Given the description of an element on the screen output the (x, y) to click on. 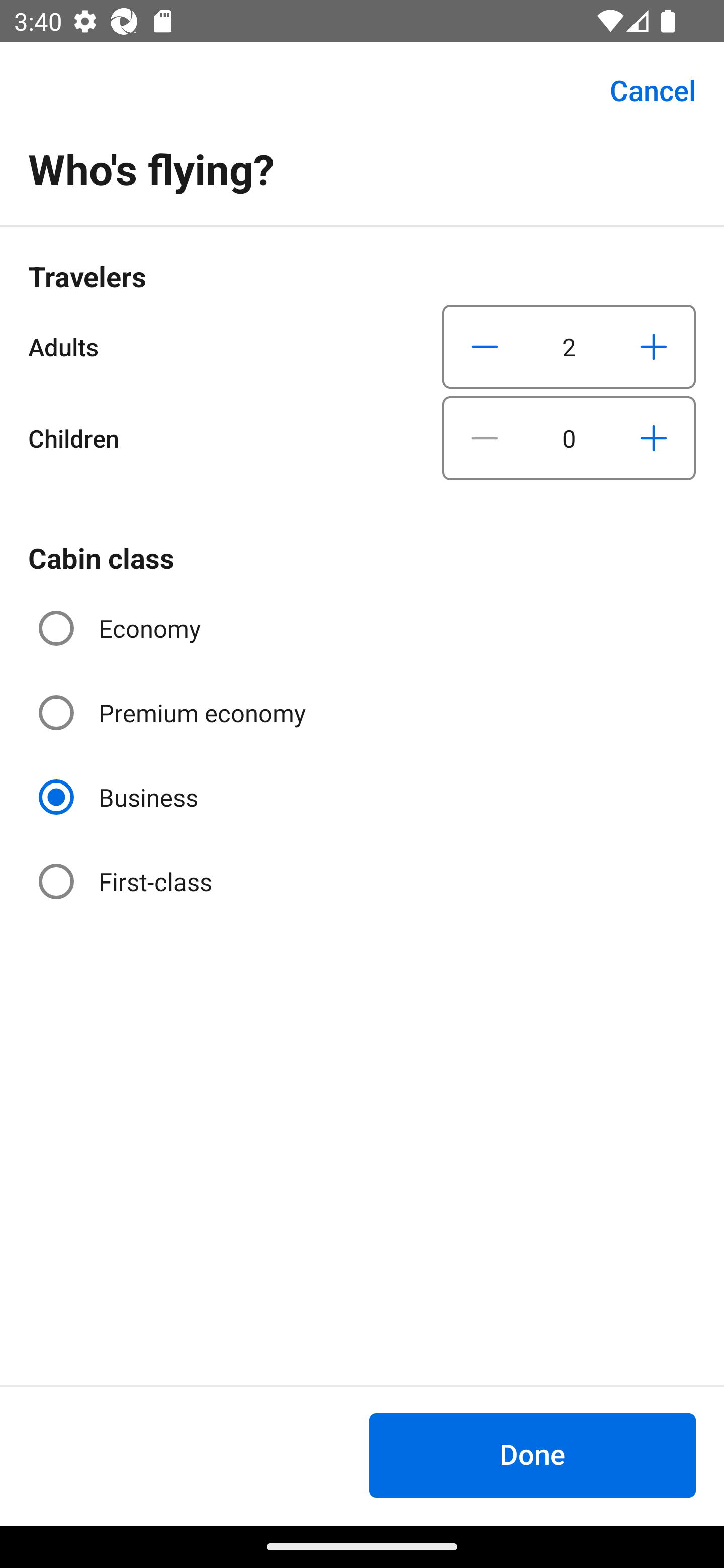
Cancel (641, 90)
Decrease (484, 346)
Increase (653, 346)
Decrease (484, 437)
Increase (653, 437)
Economy (121, 628)
Premium economy (174, 712)
Business (120, 796)
First-class (126, 880)
Done (532, 1454)
